Given the description of an element on the screen output the (x, y) to click on. 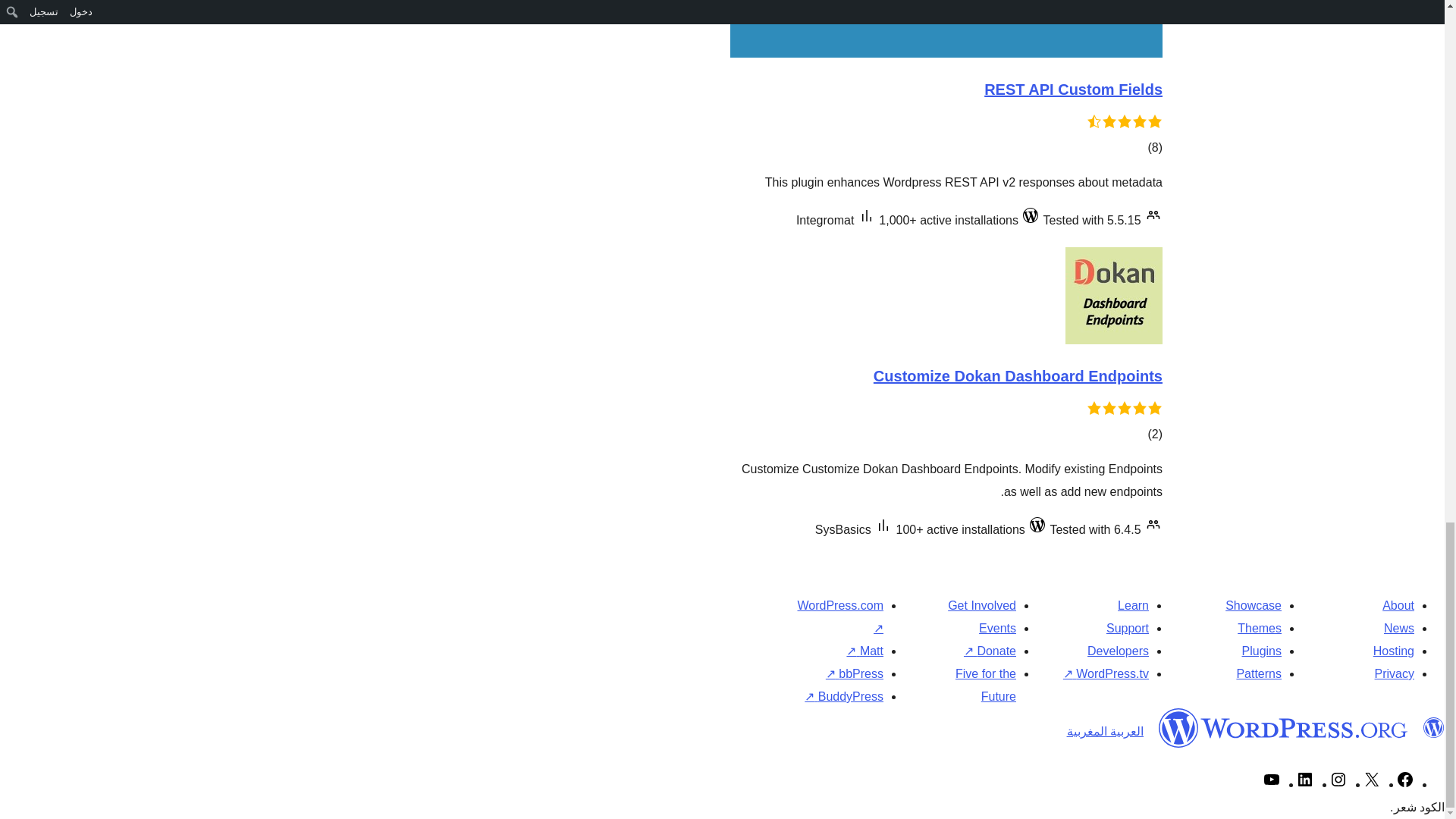
Showcase (1253, 604)
Privacy (1393, 673)
Customize Dokan Dashboard Endpoints (1016, 375)
Themes (1259, 627)
News (1398, 627)
REST API Custom Fields (1072, 89)
Hosting (1393, 650)
WordPress.org (1282, 727)
Plugins (1261, 650)
About (1397, 604)
